Given the description of an element on the screen output the (x, y) to click on. 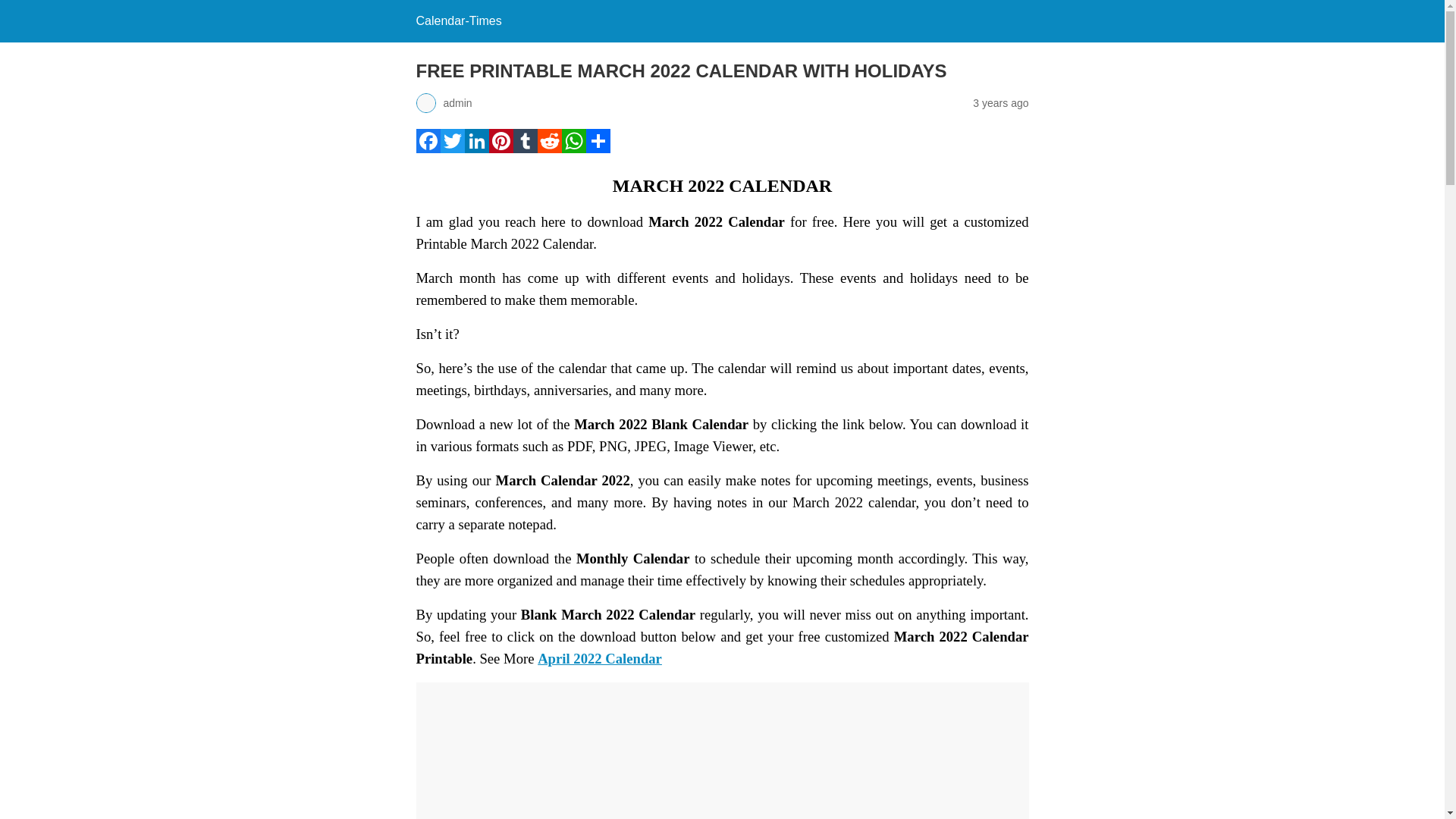
WhatsApp (572, 148)
LinkedIn (475, 148)
Twitter (451, 148)
Pinterest (499, 148)
Tumblr (524, 148)
Reddit (548, 148)
Calendar-Times (457, 20)
April 2022 Calendar (599, 658)
Facebook (426, 148)
